Given the description of an element on the screen output the (x, y) to click on. 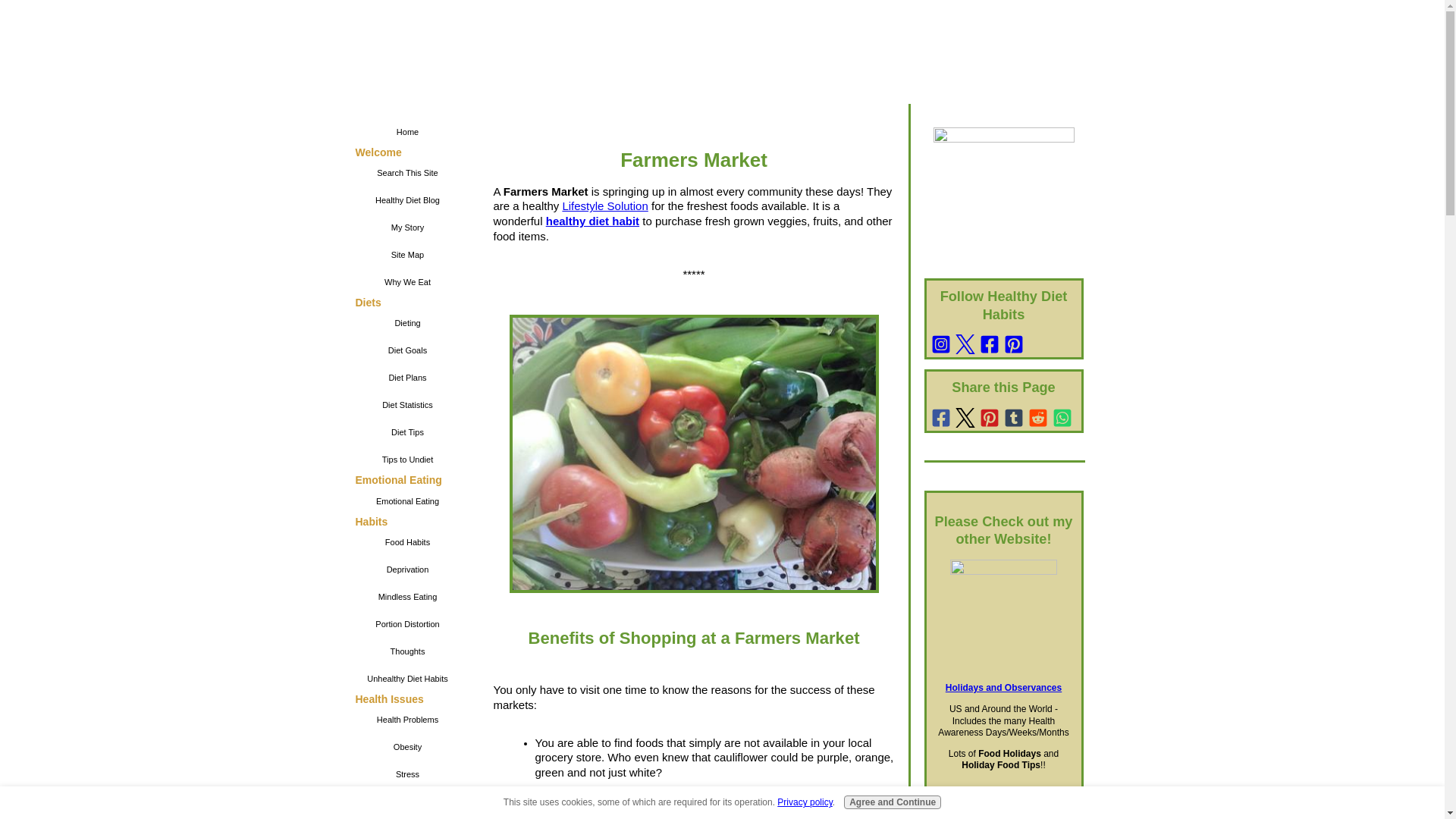
Site Map (407, 254)
Diet Tips (407, 431)
Farmers Market (694, 453)
Lifestyle Solution (604, 206)
Deprivation (407, 569)
Health Problems (407, 719)
Diet Goals (407, 349)
Search This Site (407, 172)
My Story (407, 226)
Home (407, 131)
Food Habits (407, 542)
Produce Tips (407, 816)
Diet Plans (407, 377)
Thoughts (407, 651)
Why We Eat (407, 281)
